Given the description of an element on the screen output the (x, y) to click on. 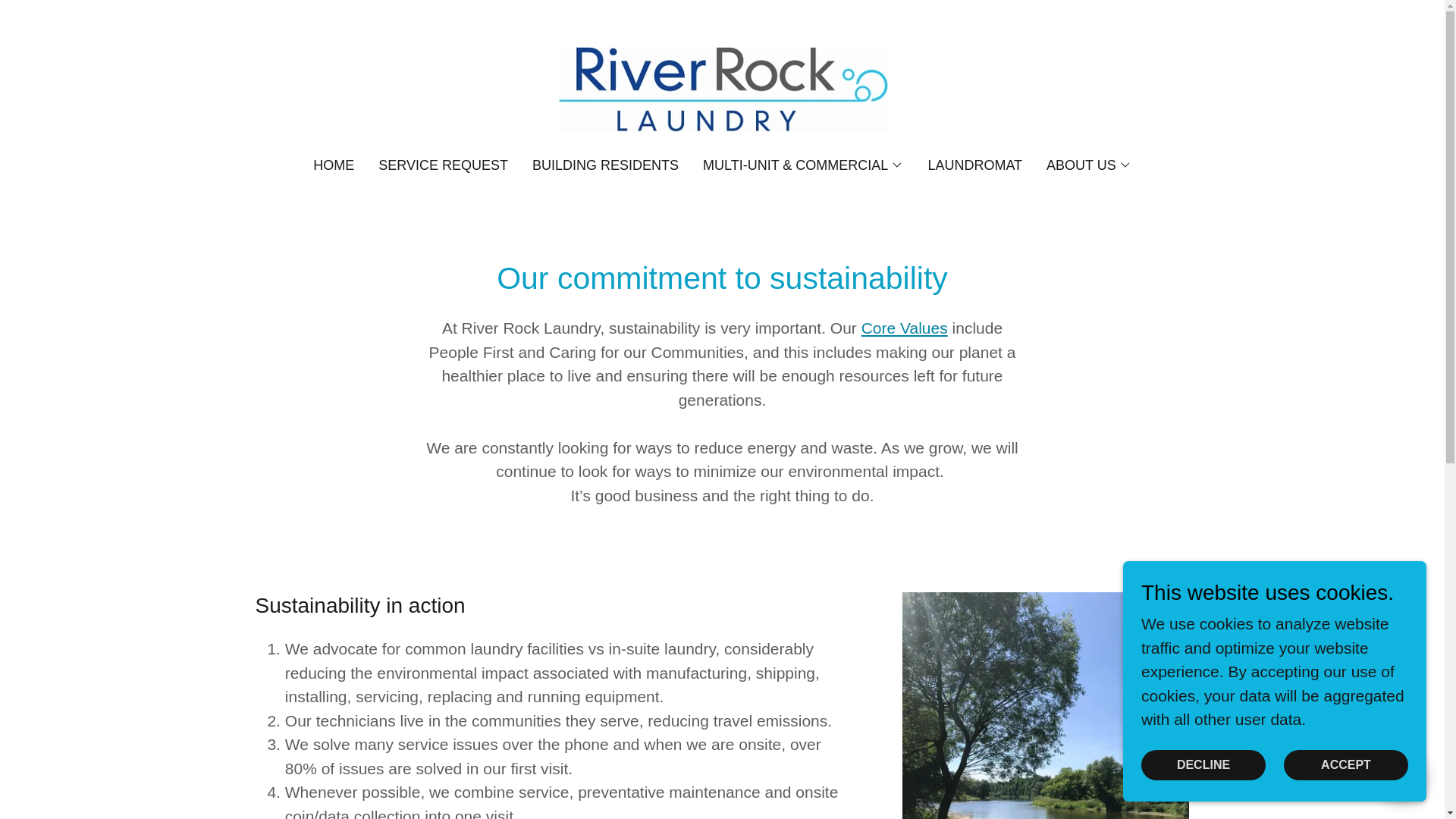
HOME (333, 165)
SERVICE REQUEST (443, 165)
LAUNDROMAT (974, 165)
ABOUT US (1088, 165)
BUILDING RESIDENTS (604, 165)
River Rock Laundry (721, 88)
